Given the description of an element on the screen output the (x, y) to click on. 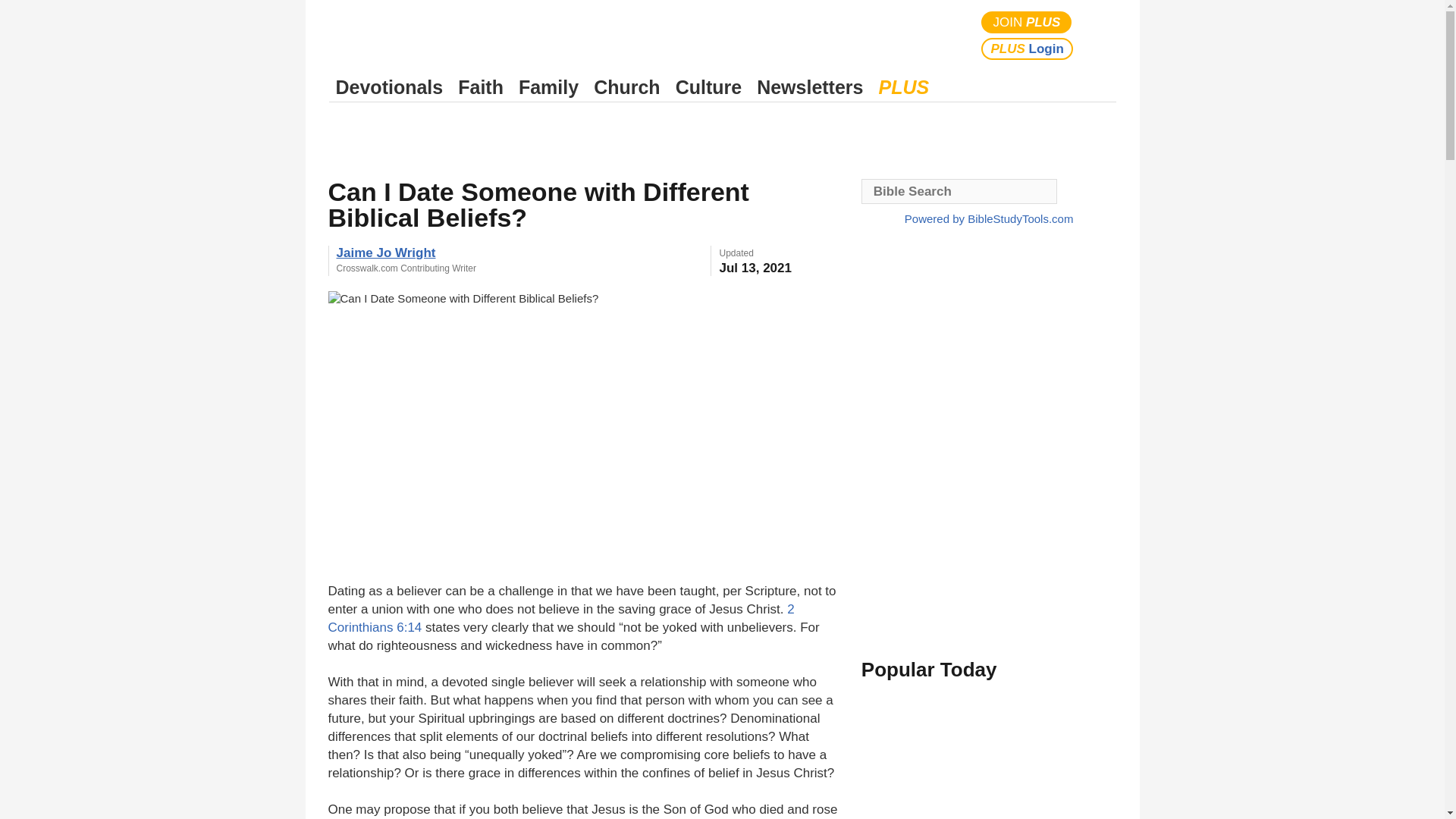
Devotionals (389, 87)
Family (548, 87)
Faith (481, 87)
Search (1101, 34)
JOIN PLUS (1026, 22)
Plus Login (1026, 48)
Join Plus (1026, 22)
PLUS Login (1026, 48)
